Given the description of an element on the screen output the (x, y) to click on. 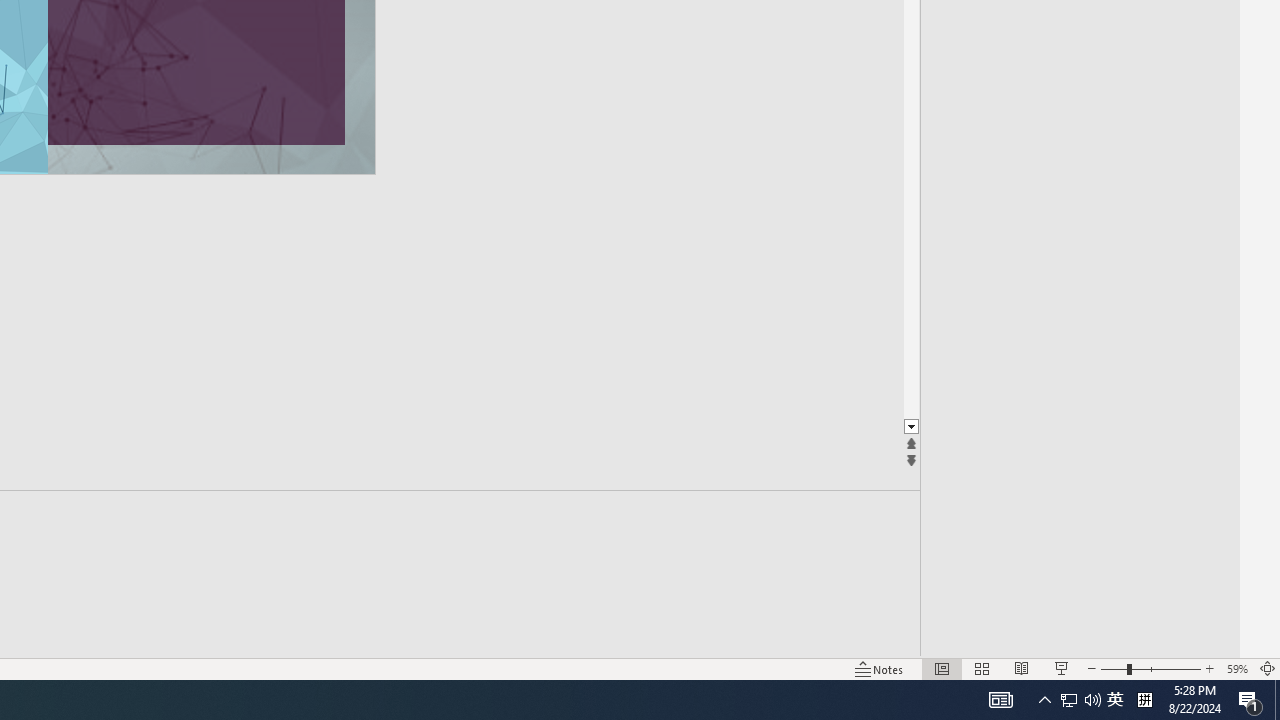
Zoom 59% (1236, 668)
Notes  (879, 668)
